Given the description of an element on the screen output the (x, y) to click on. 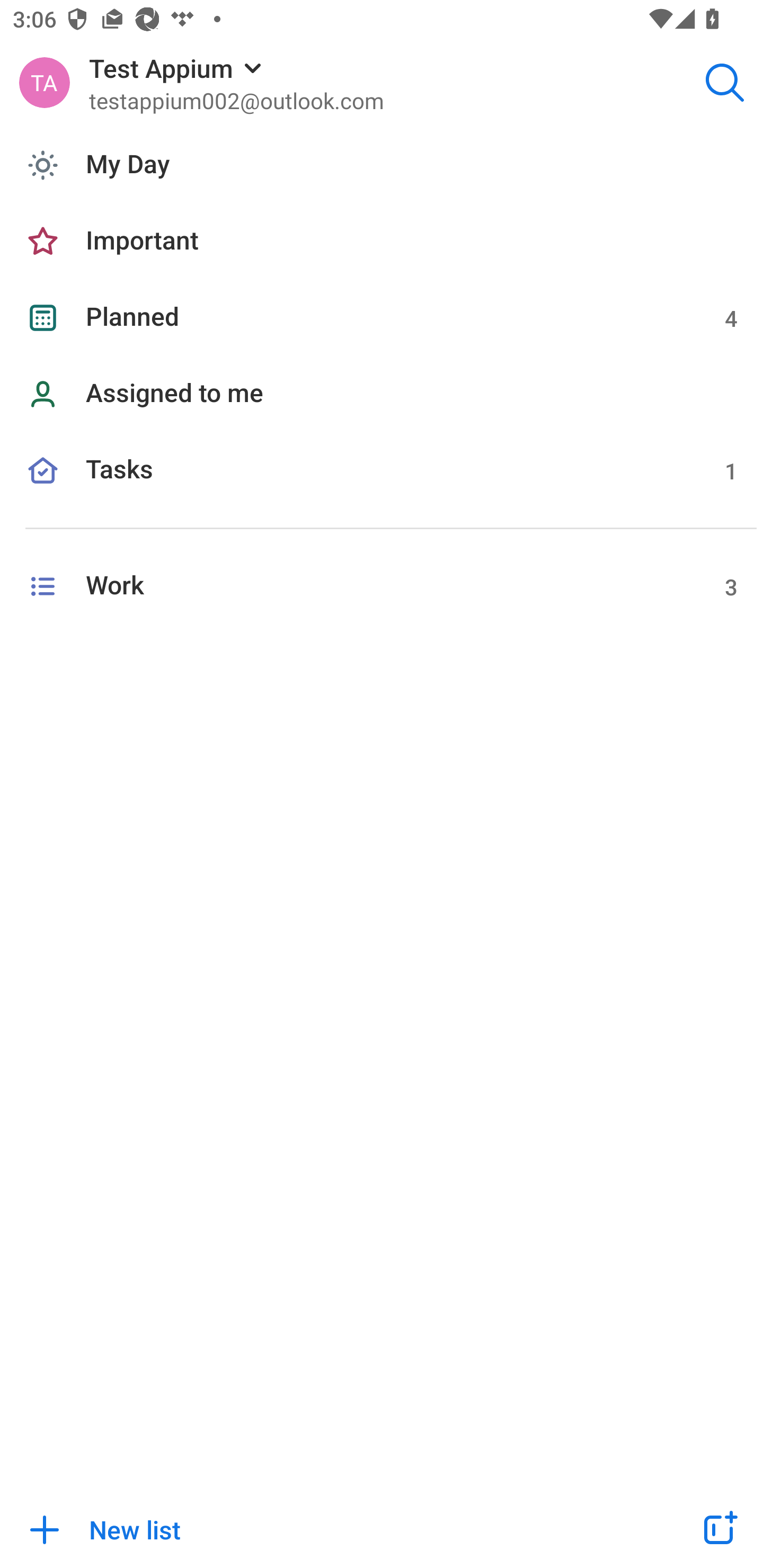
New list (328, 1529)
